Given the description of an element on the screen output the (x, y) to click on. 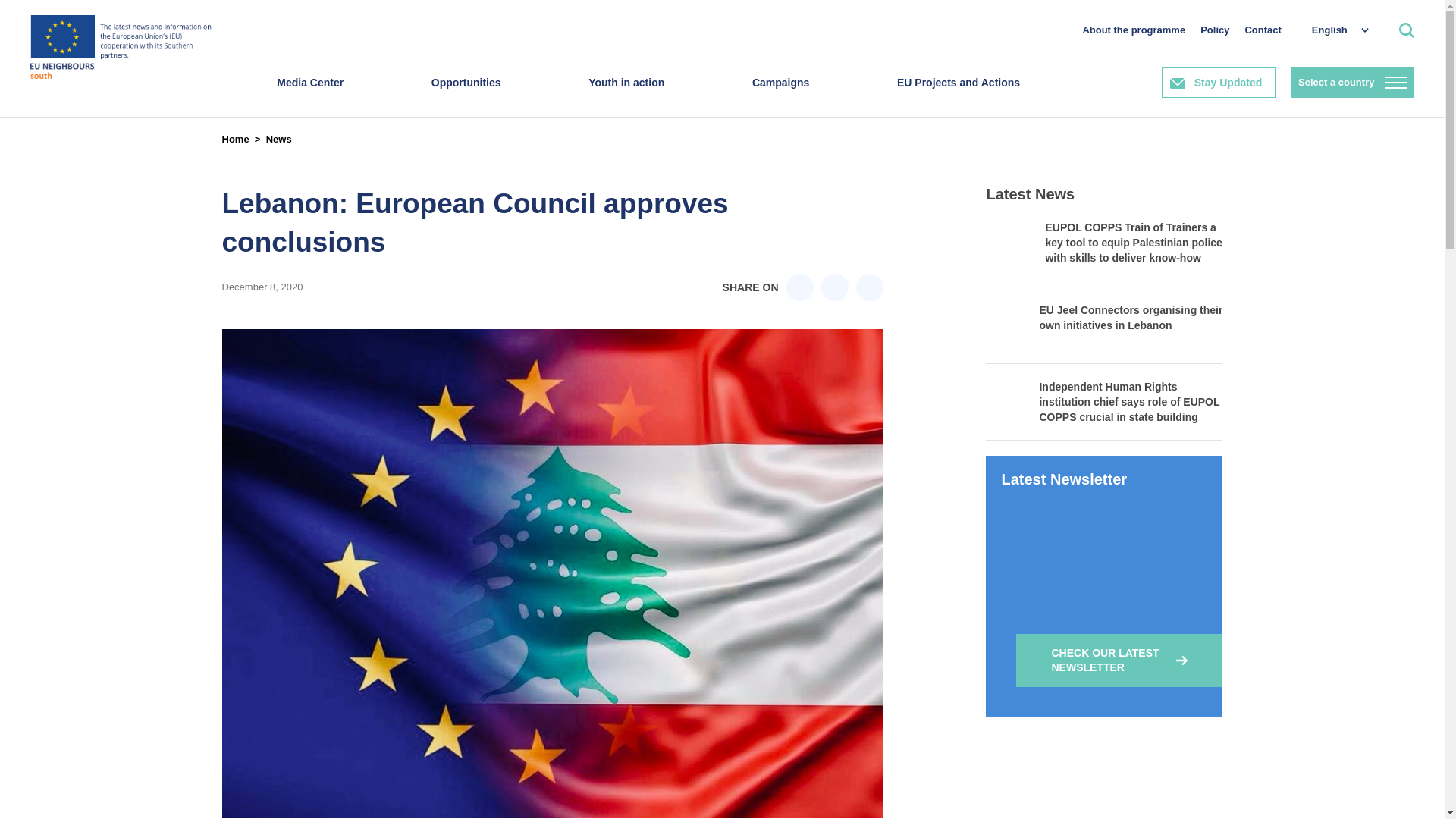
Policy (1213, 30)
About the programme (1133, 30)
English (1332, 29)
Contact (1262, 30)
Media Center (309, 97)
